Given the description of an element on the screen output the (x, y) to click on. 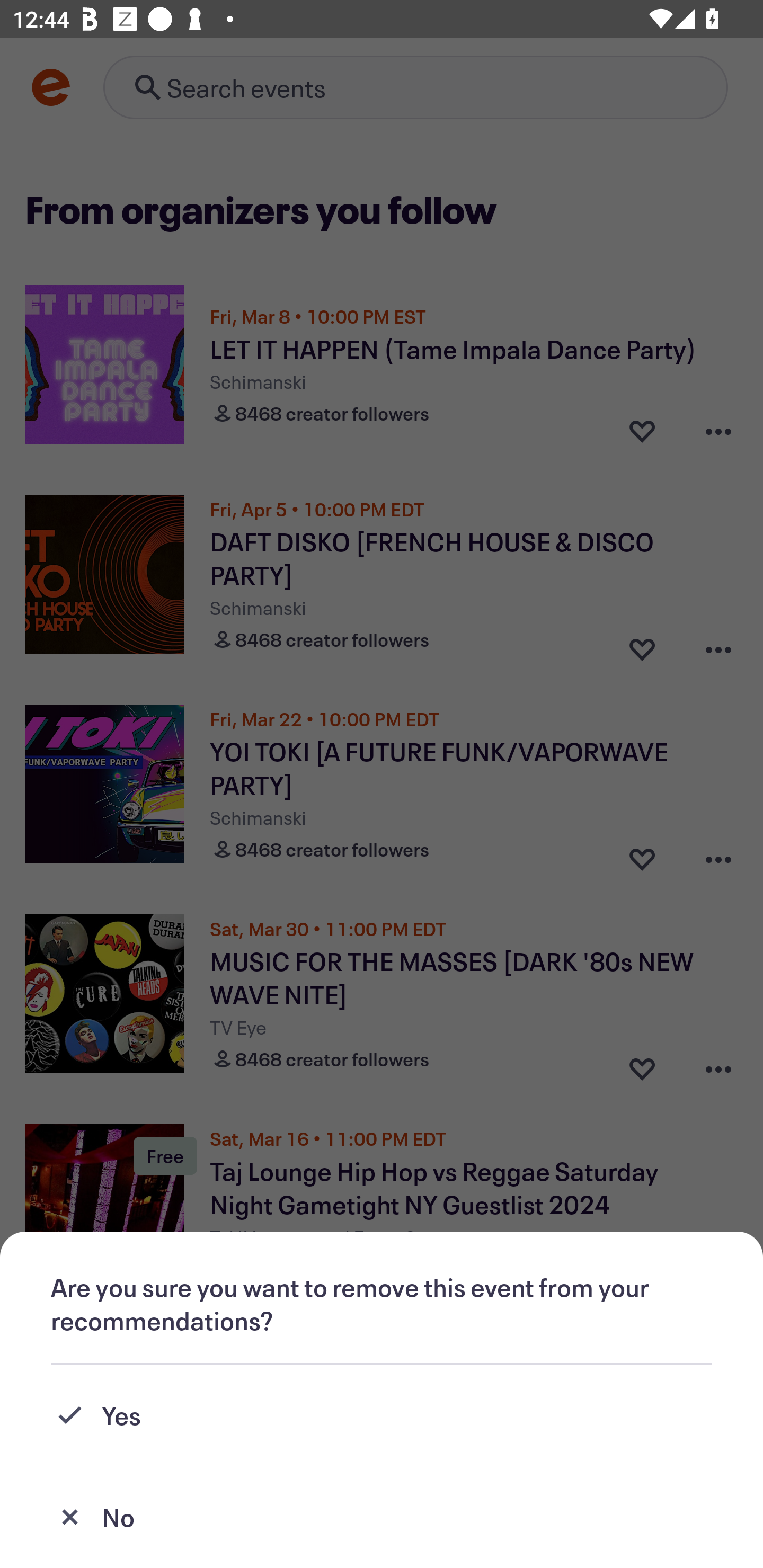
Yes (381, 1415)
No (381, 1517)
